Given the description of an element on the screen output the (x, y) to click on. 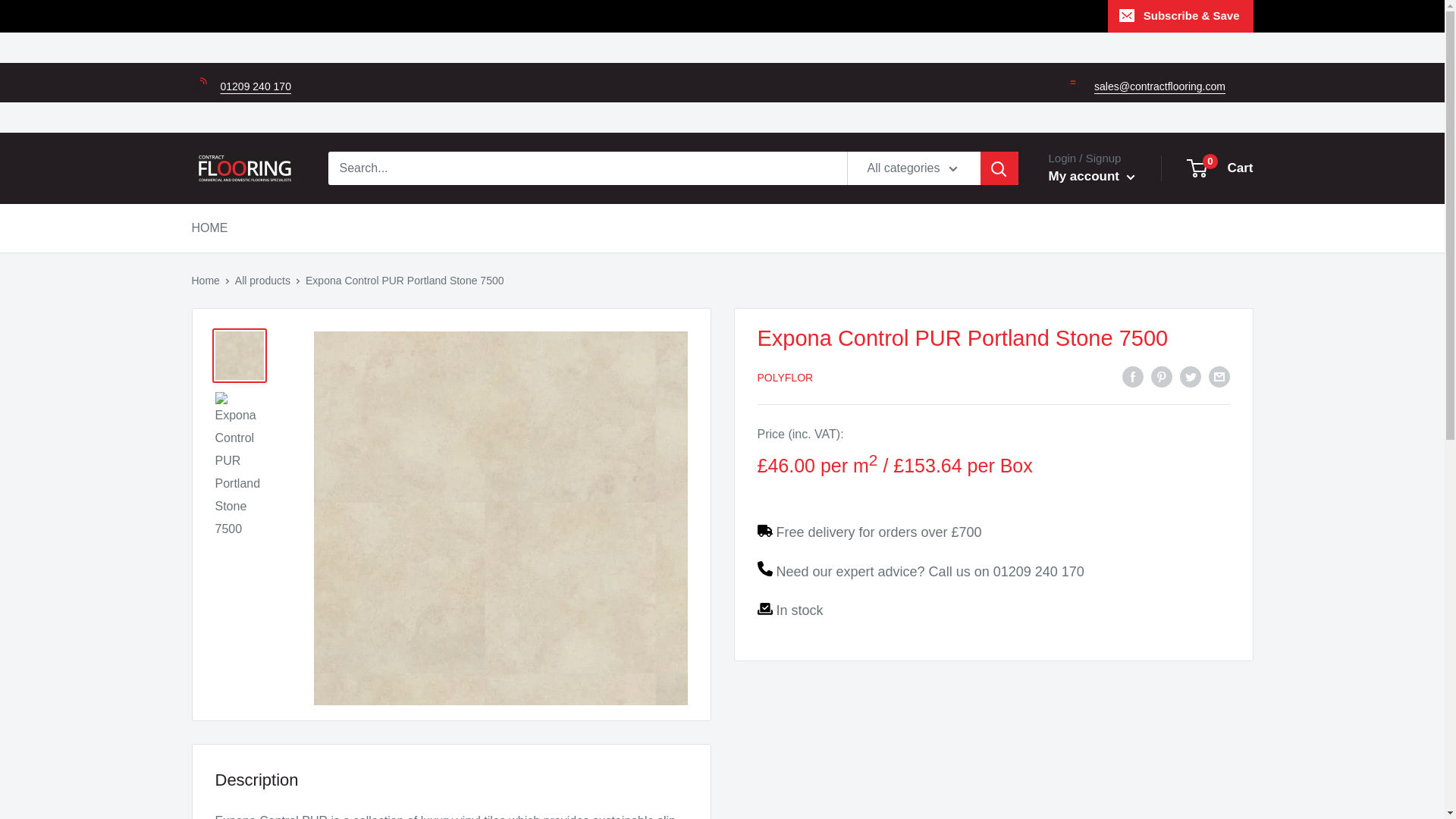
My account (1091, 176)
Home (1220, 168)
Contract Flooring (204, 280)
01209 240 170 (243, 168)
01209 240 170 (254, 86)
POLYFLOR (1038, 571)
tel:01209 240 170 (784, 377)
All products (254, 86)
HOME (261, 280)
